Given the description of an element on the screen output the (x, y) to click on. 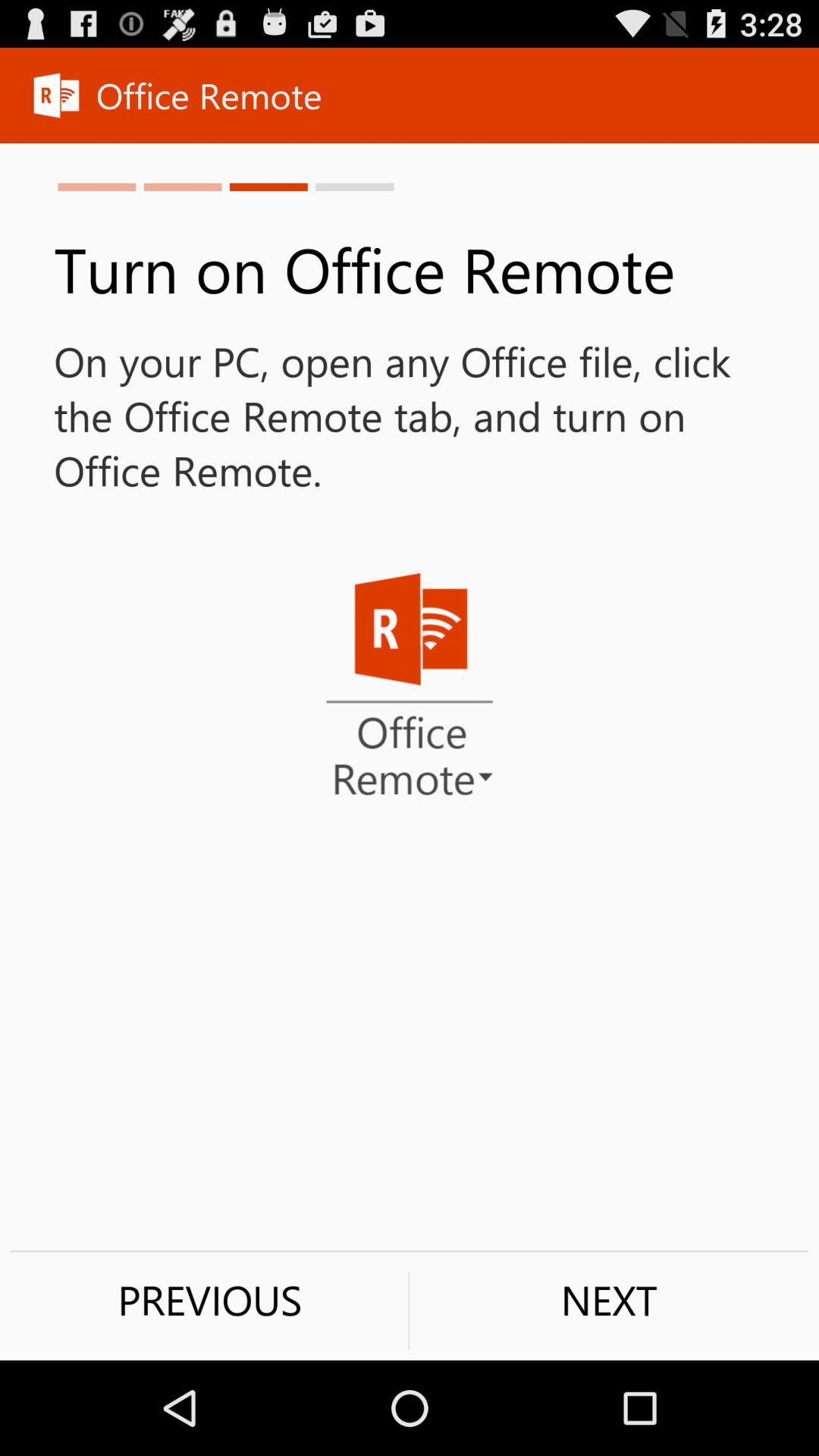
press the icon next to the previous icon (608, 1300)
